Given the description of an element on the screen output the (x, y) to click on. 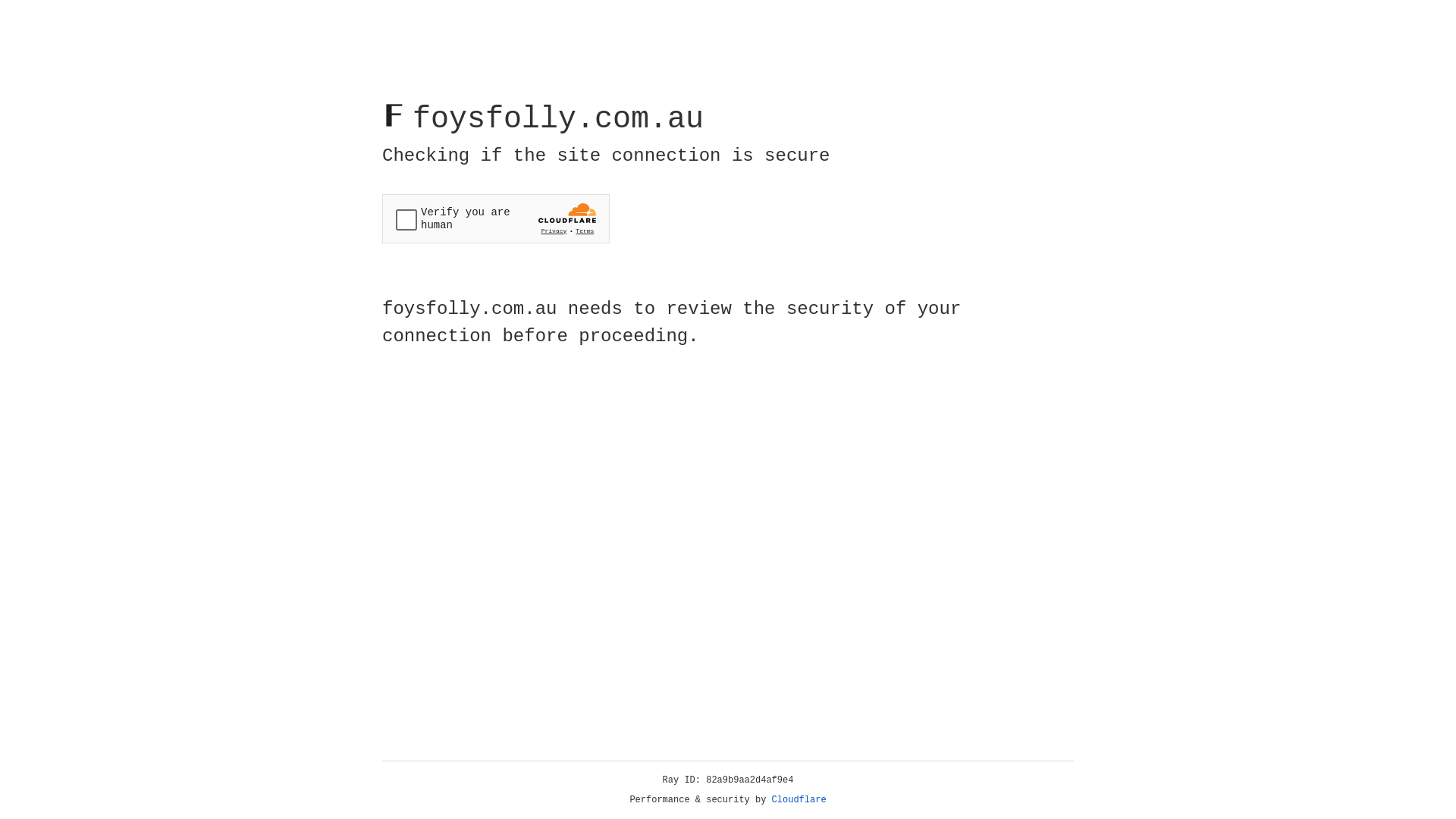
Cloudflare Element type: text (798, 799)
Widget containing a Cloudflare security challenge Element type: hover (495, 218)
